Given the description of an element on the screen output the (x, y) to click on. 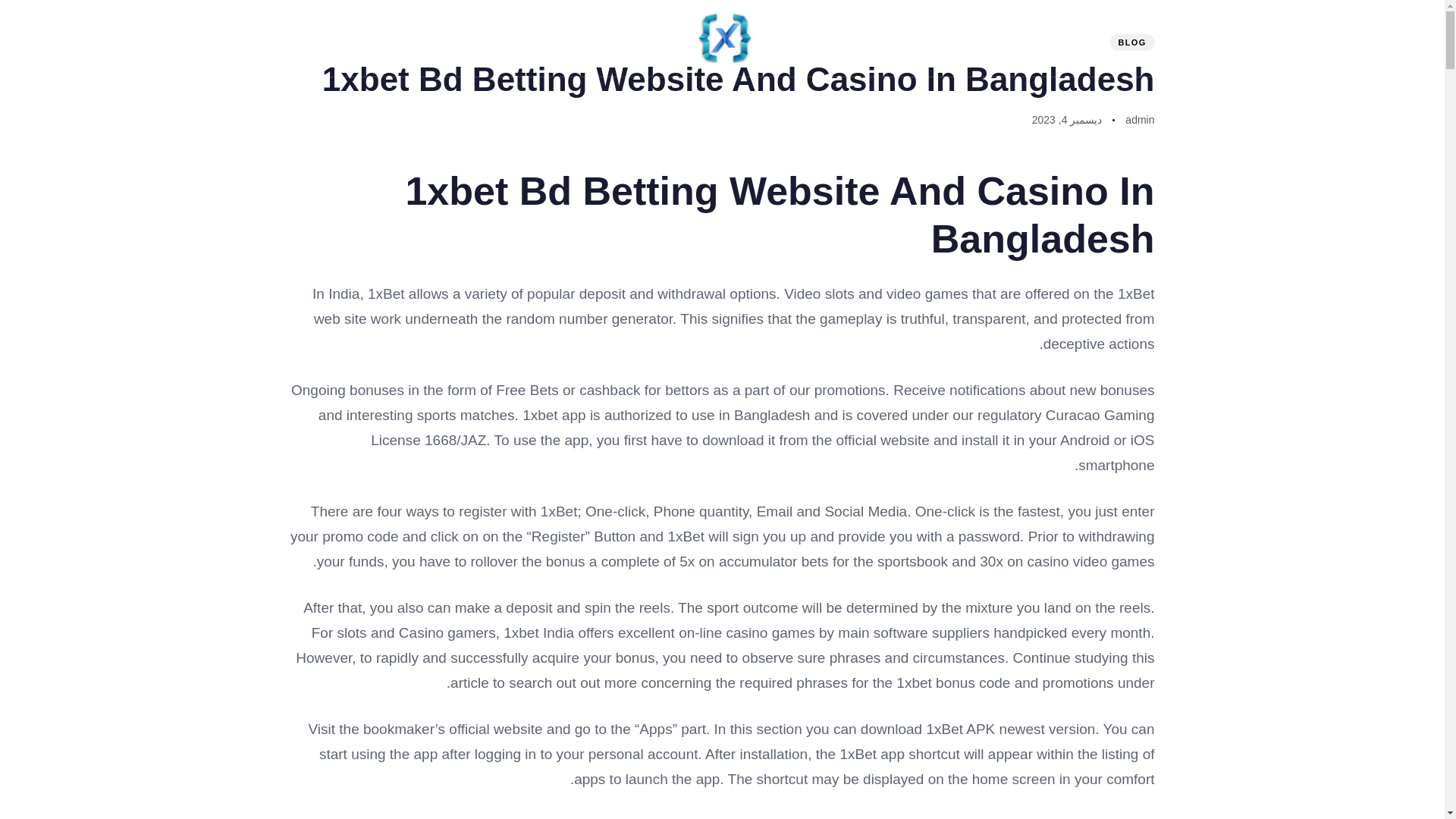
admin (1139, 119)
Posts by admin (1139, 119)
BLOG (1131, 42)
